Given the description of an element on the screen output the (x, y) to click on. 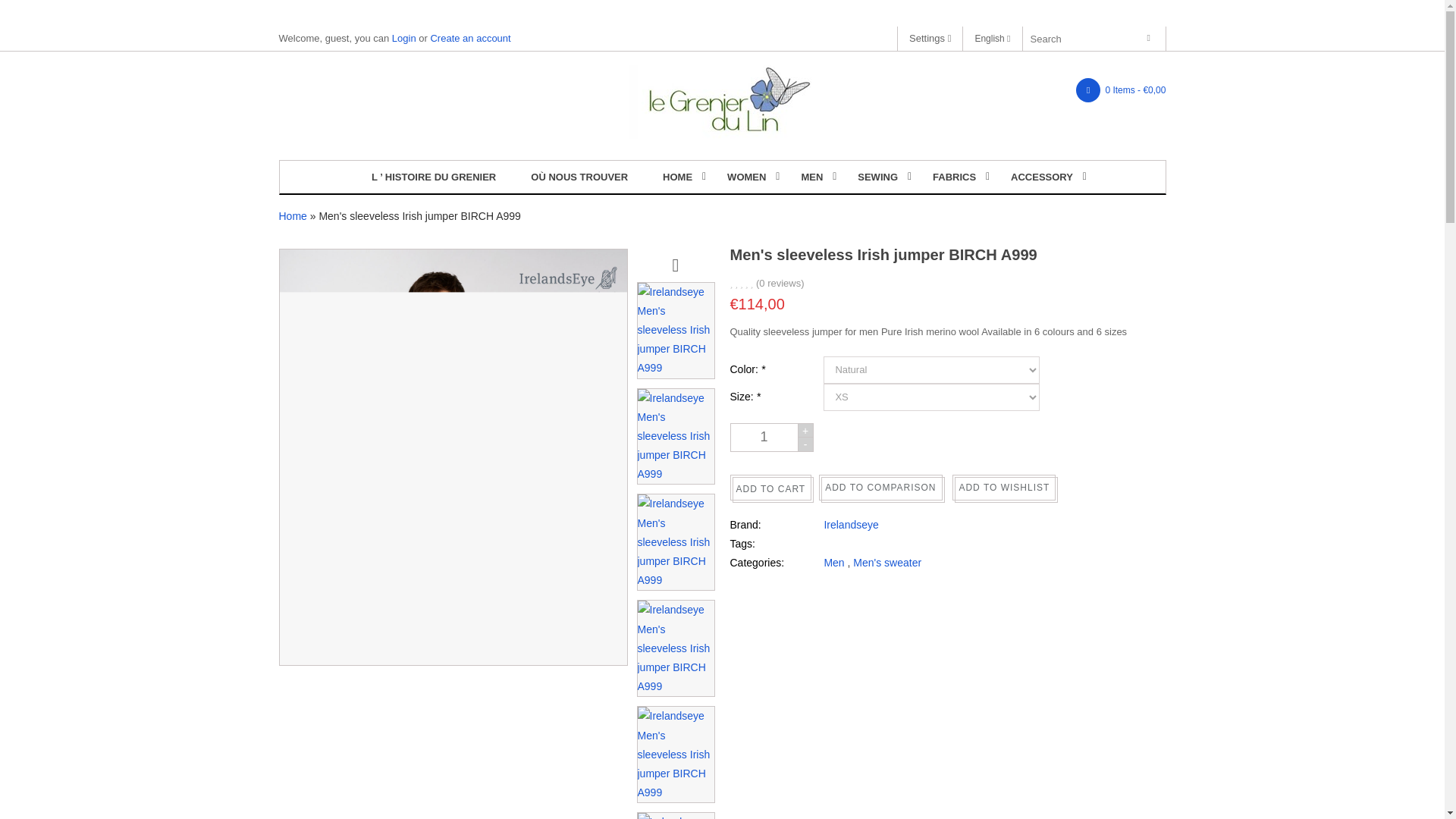
Create an account (470, 38)
Search (1152, 38)
Login (403, 38)
1 (763, 437)
Home (677, 176)
Linnen products like shirts,towels, fabrics (721, 101)
Cart (1120, 90)
English (992, 38)
HOME (677, 176)
